Given the description of an element on the screen output the (x, y) to click on. 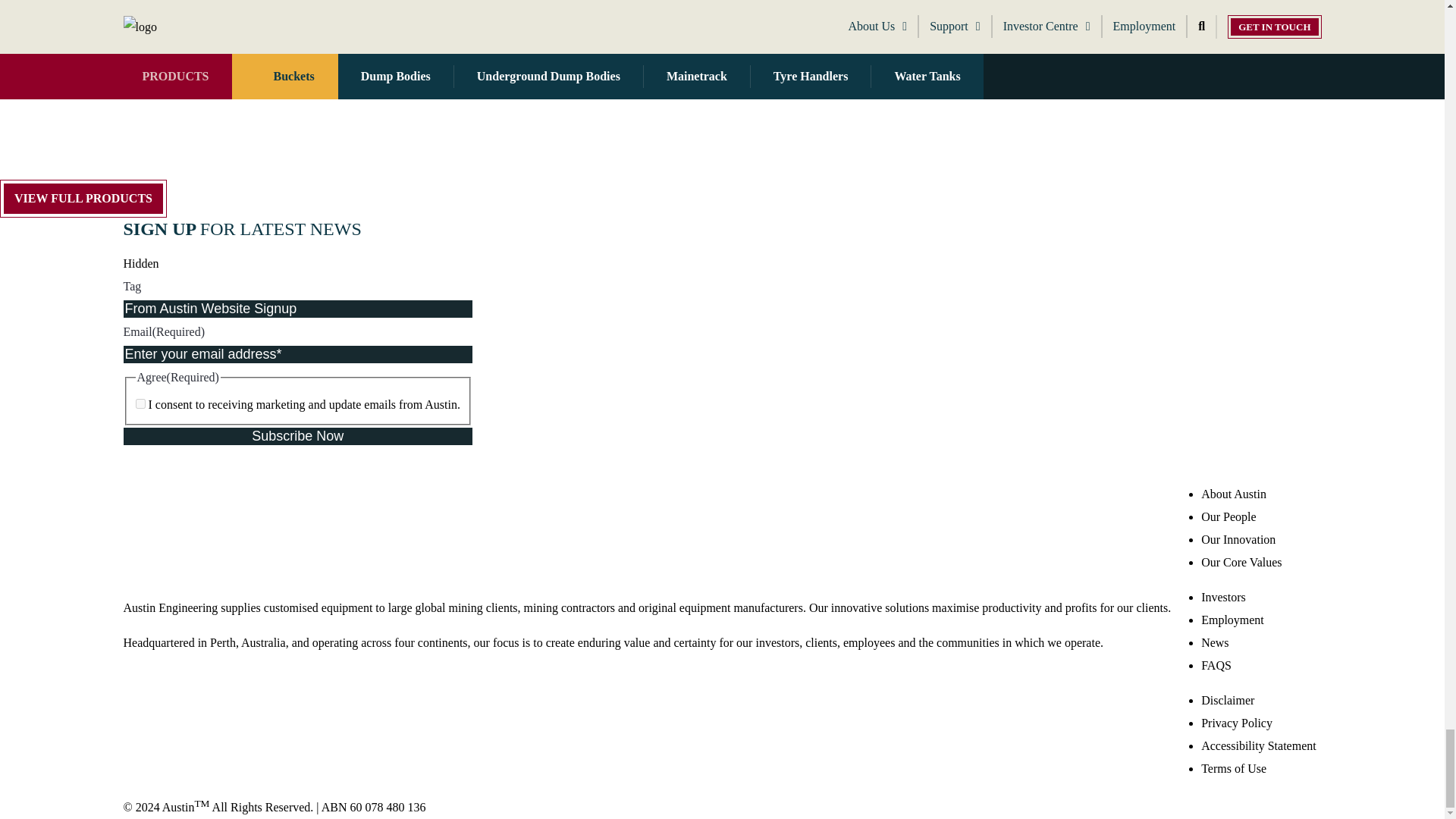
From Austin Website Signup (296, 308)
Subscribe Now (296, 436)
